Given the description of an element on the screen output the (x, y) to click on. 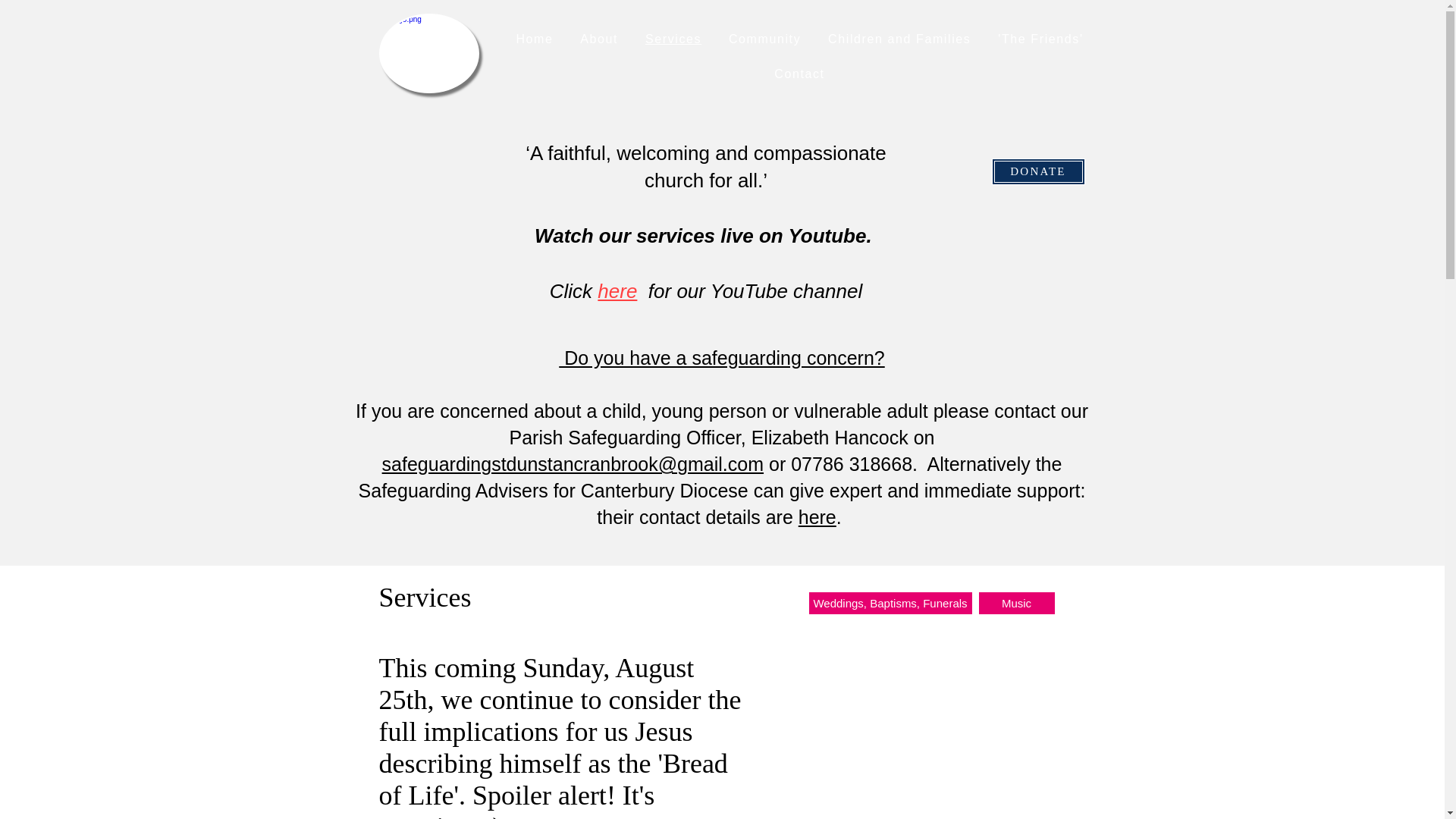
here (616, 291)
'The Friends' (1040, 39)
Community (763, 39)
Contact (799, 73)
DONATE (1037, 171)
About (598, 39)
Children and Families (898, 39)
Music (1016, 603)
Services (672, 39)
Weddings, Baptisms, Funerals (889, 603)
